Given the description of an element on the screen output the (x, y) to click on. 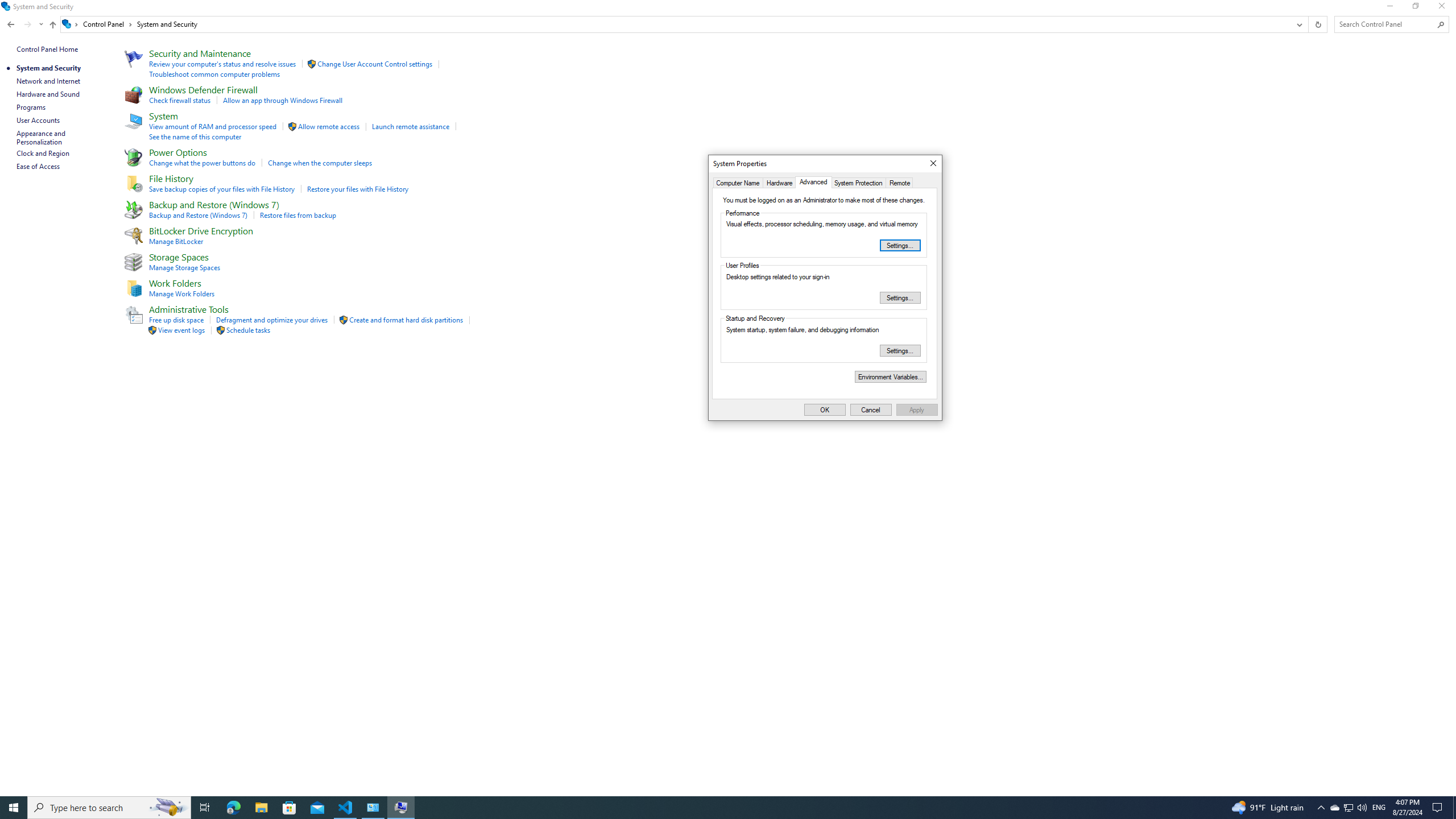
Task View (204, 807)
Advanced (813, 182)
Tray Input Indicator - English (United States) (1378, 807)
Cancel (871, 409)
Running applications (706, 807)
File Explorer (261, 807)
Show desktop (1454, 807)
Hardware (1347, 807)
Close (779, 182)
Environment Variables... (932, 163)
Microsoft Store (890, 376)
